Given the description of an element on the screen output the (x, y) to click on. 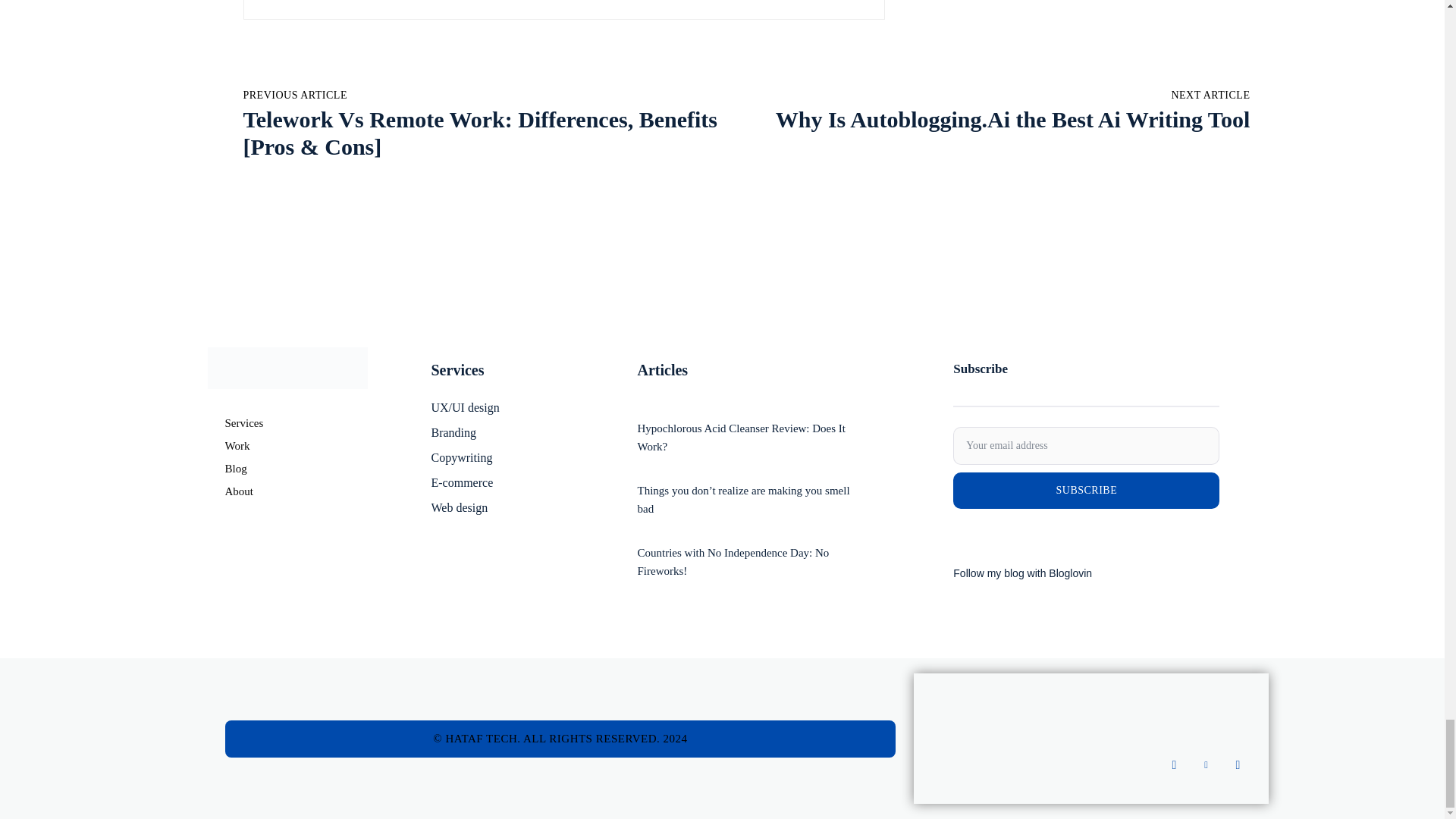
Talha Quraishi (295, 1)
